Given the description of an element on the screen output the (x, y) to click on. 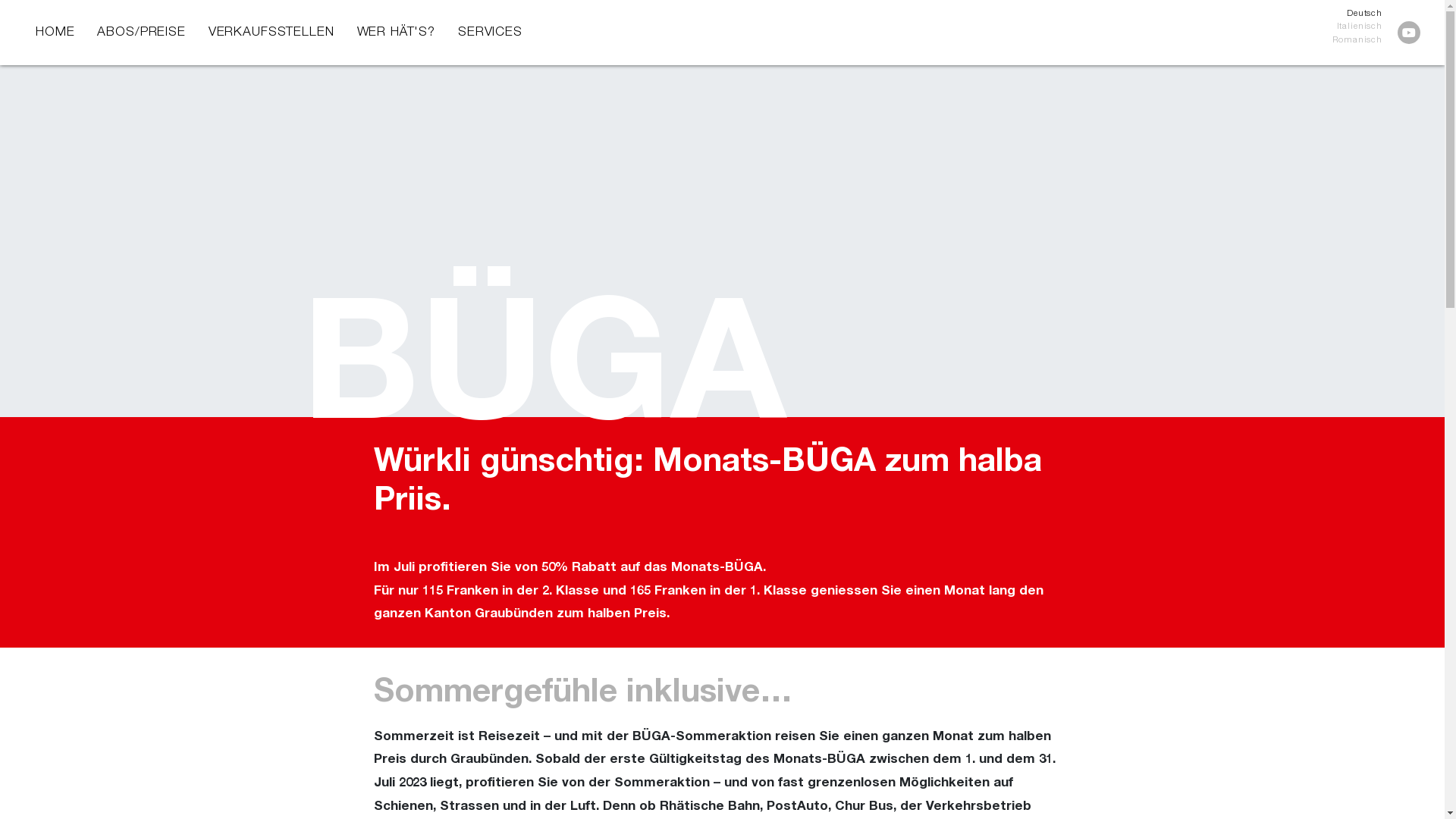
ABOS/PREISE Element type: text (141, 32)
Deutsch Element type: text (1357, 13)
HOME Element type: text (54, 32)
Romanisch Element type: text (1357, 40)
Italienisch Element type: text (1357, 26)
VERKAUFSSTELLEN Element type: text (271, 32)
SERVICES Element type: text (490, 32)
